Given the description of an element on the screen output the (x, y) to click on. 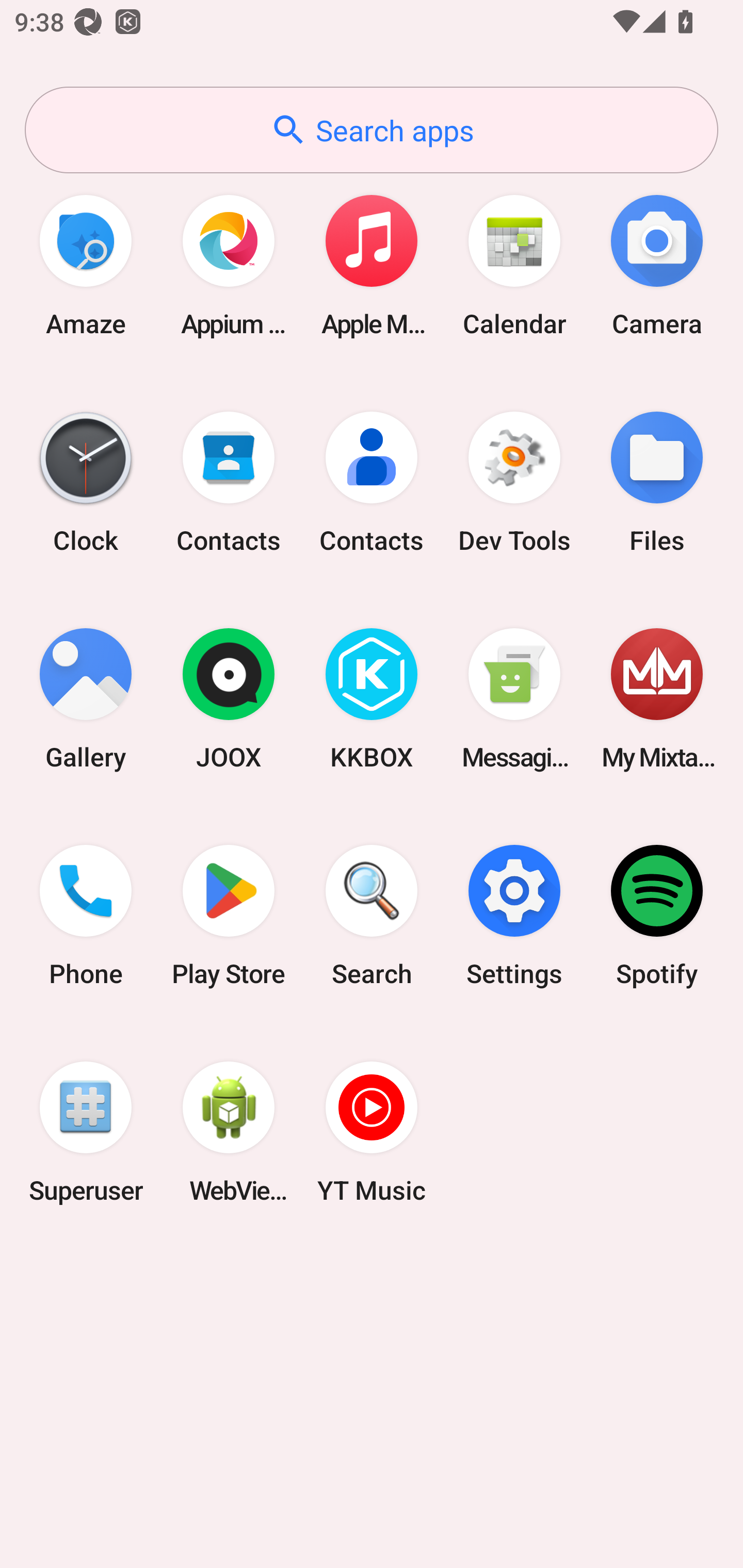
  Search apps (371, 130)
Amaze (85, 264)
Appium Settings (228, 264)
Apple Music (371, 264)
Calendar (514, 264)
Camera (656, 264)
Clock (85, 482)
Contacts (228, 482)
Contacts (371, 482)
Dev Tools (514, 482)
Files (656, 482)
Gallery (85, 699)
JOOX (228, 699)
KKBOX (371, 699)
Messaging (514, 699)
My Mixtapez (656, 699)
Phone (85, 915)
Play Store (228, 915)
Search (371, 915)
Settings (514, 915)
Spotify (656, 915)
Superuser (85, 1131)
WebView Browser Tester (228, 1131)
YT Music (371, 1131)
